Given the description of an element on the screen output the (x, y) to click on. 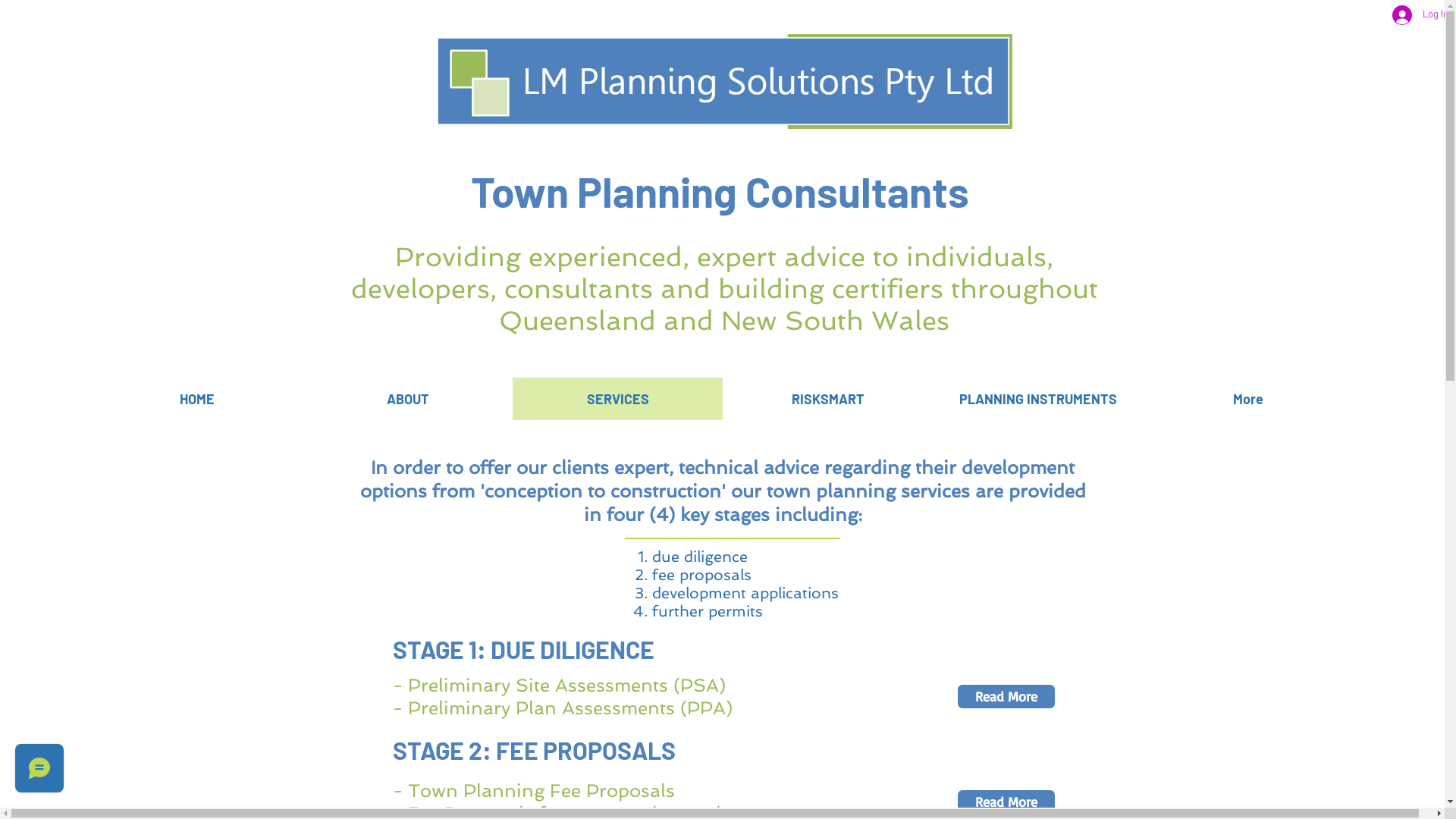
SERVICES Element type: text (617, 398)
Read More Element type: text (1005, 801)
PLANNING INSTRUMENTS Element type: text (1037, 398)
HOME Element type: text (197, 398)
ABOUT Element type: text (406, 398)
Wix Chat Element type: hover (35, 771)
Read More Element type: text (1005, 696)
RISKSMART Element type: text (826, 398)
